Given the description of an element on the screen output the (x, y) to click on. 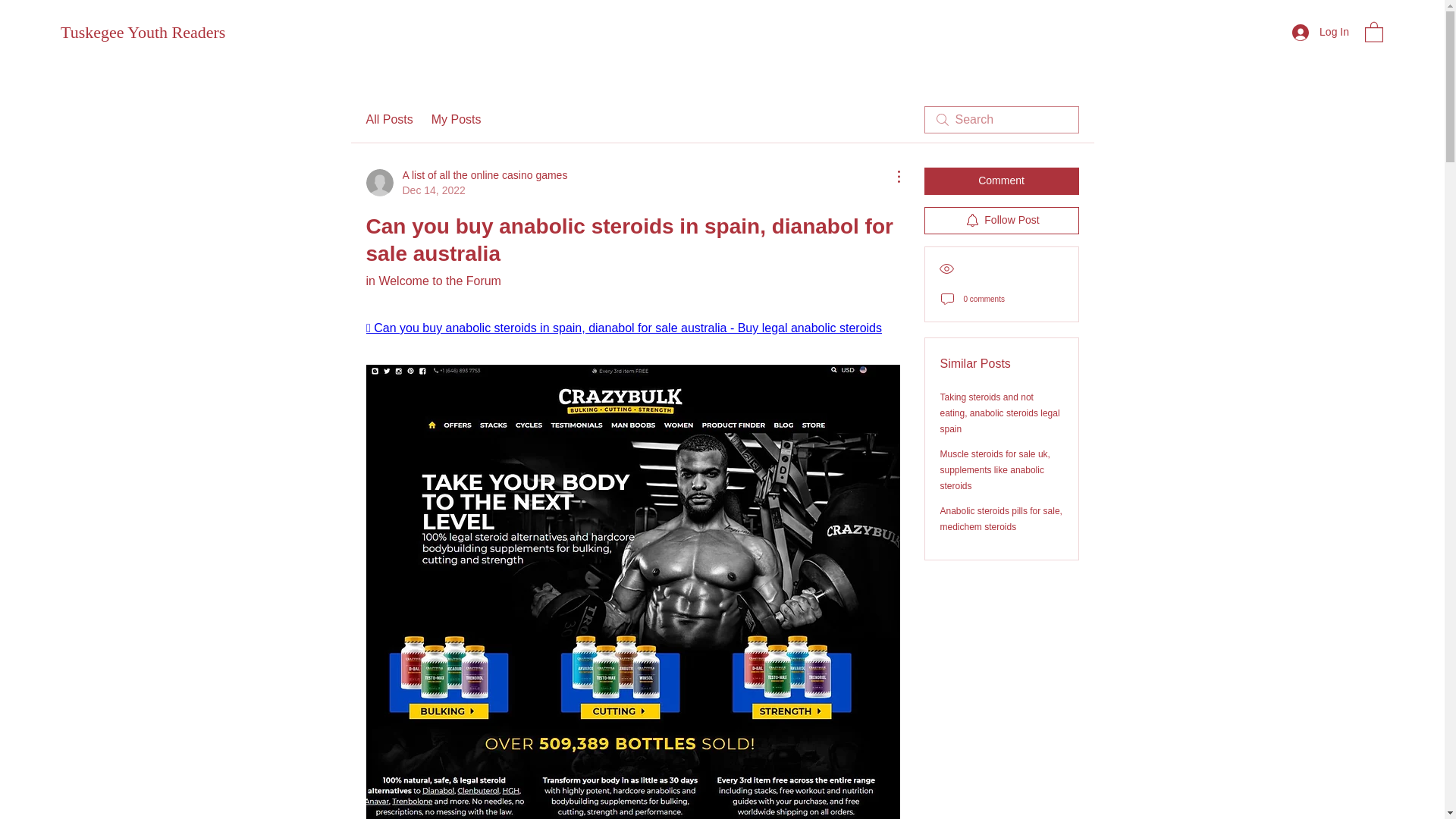
in Welcome to the Forum (432, 280)
All Posts (466, 182)
Follow Post (388, 119)
My Posts (1000, 220)
Comment (455, 119)
Log In (1000, 180)
Tuskegee Youth Readers (1320, 31)
Anabolic steroids pills for sale, medichem steroids (143, 31)
